Given the description of an element on the screen output the (x, y) to click on. 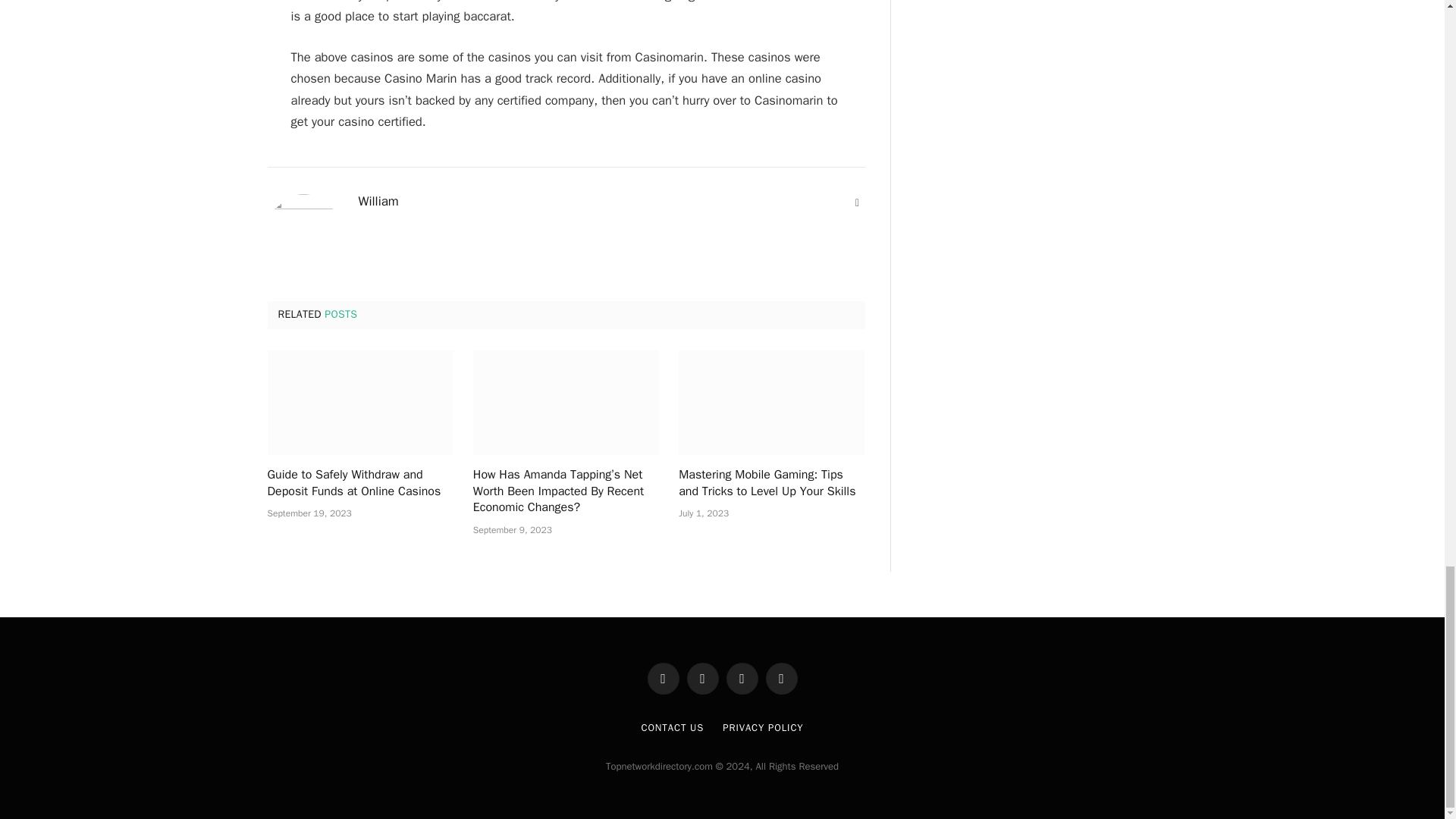
Posts by William (377, 201)
Website (856, 202)
Guide to Safely Withdraw and Deposit Funds at Online Casinos (359, 483)
Guide to Safely Withdraw and Deposit Funds at Online Casinos (359, 402)
William (377, 201)
Website (856, 202)
